Given the description of an element on the screen output the (x, y) to click on. 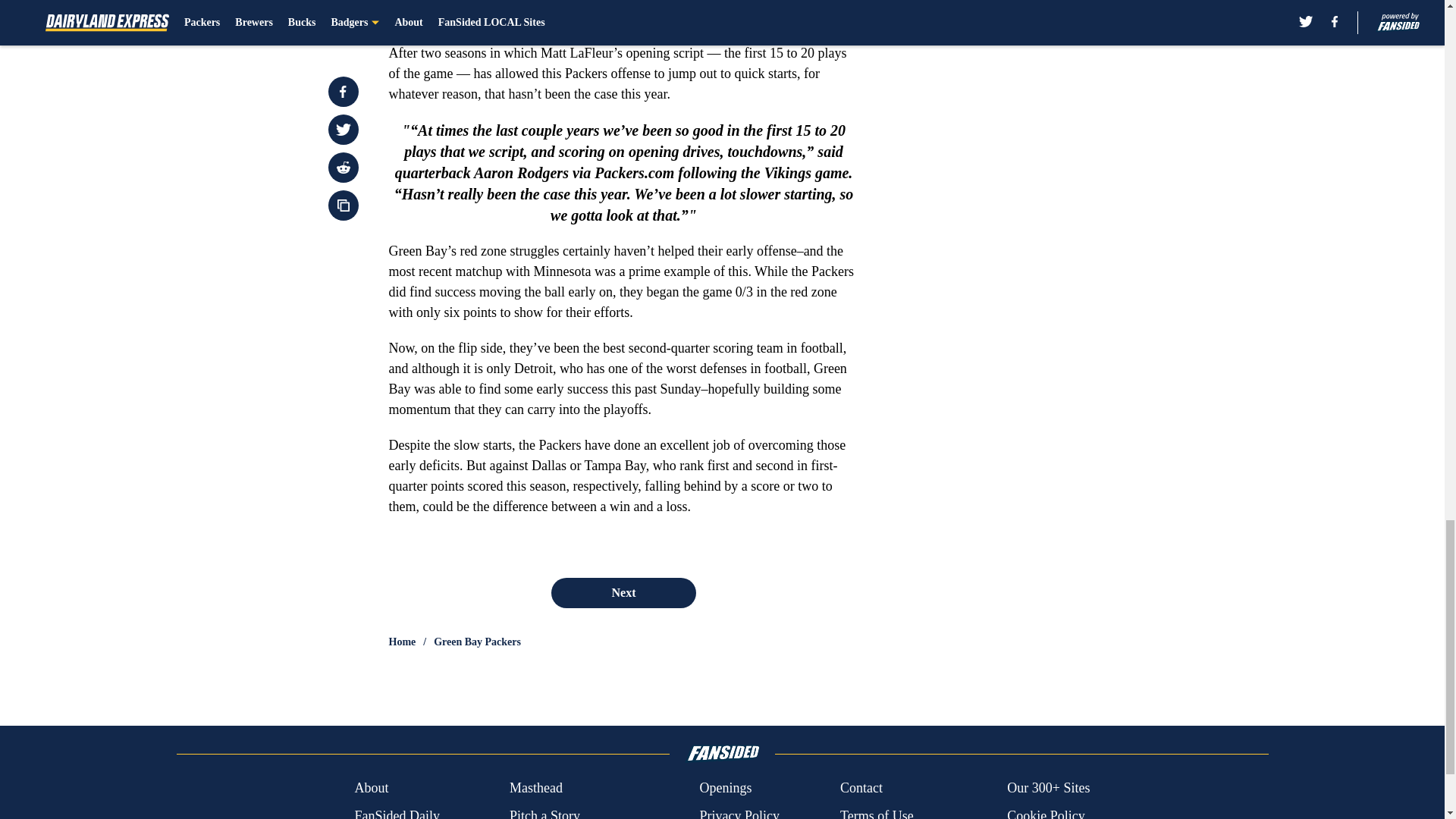
Masthead (535, 788)
Green Bay Packers (477, 642)
FanSided Daily (396, 812)
Pitch a Story (544, 812)
Next (622, 593)
Openings (724, 788)
Home (401, 642)
Cookie Policy (1045, 812)
Privacy Policy (738, 812)
About (370, 788)
Contact (861, 788)
Terms of Use (877, 812)
